Given the description of an element on the screen output the (x, y) to click on. 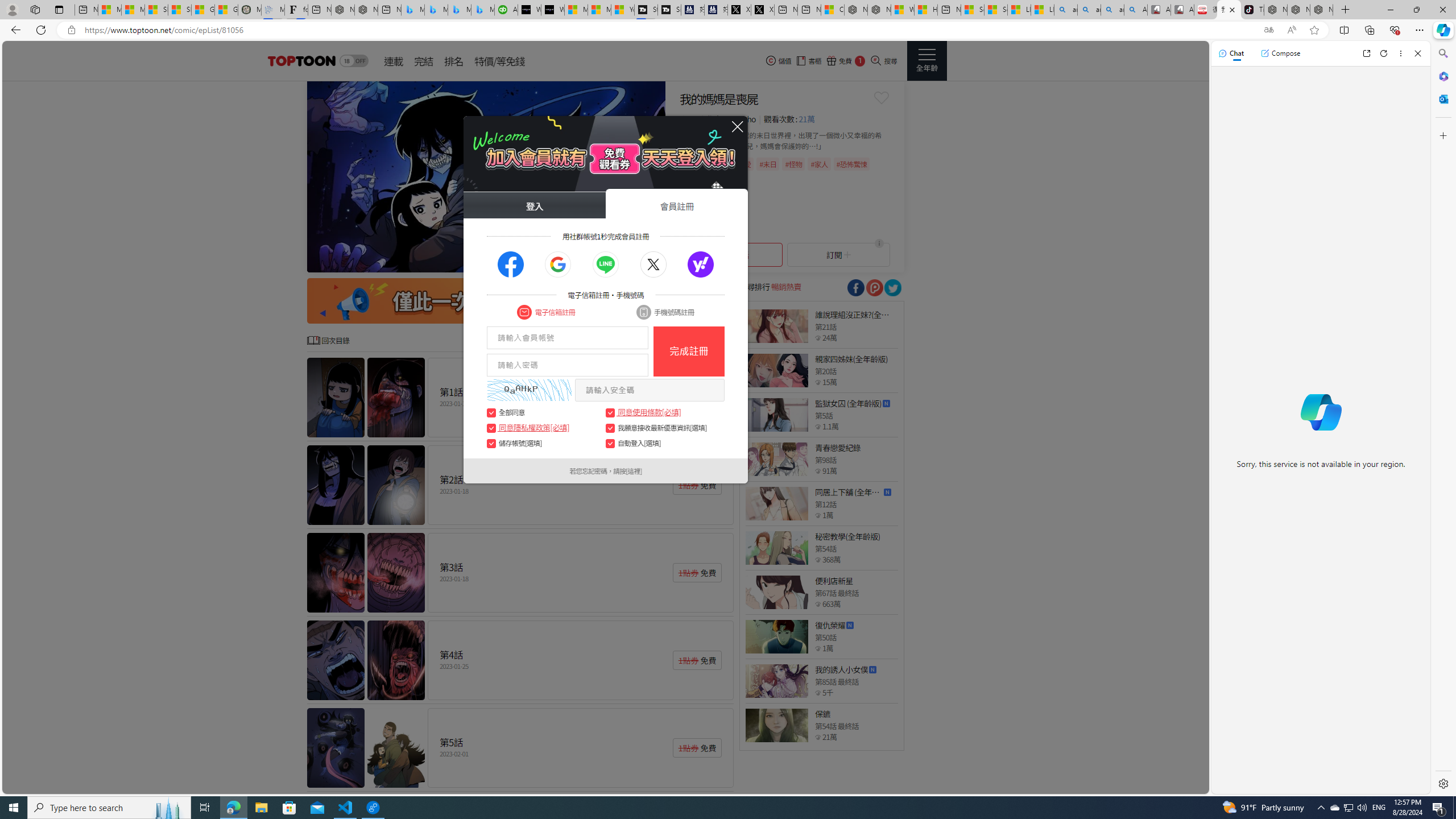
Compose (1280, 52)
Amazon Echo Robot - Search Images (1135, 9)
Side bar (1443, 418)
Class:  switch_18mode actionAdultBtn (353, 60)
